Given the description of an element on the screen output the (x, y) to click on. 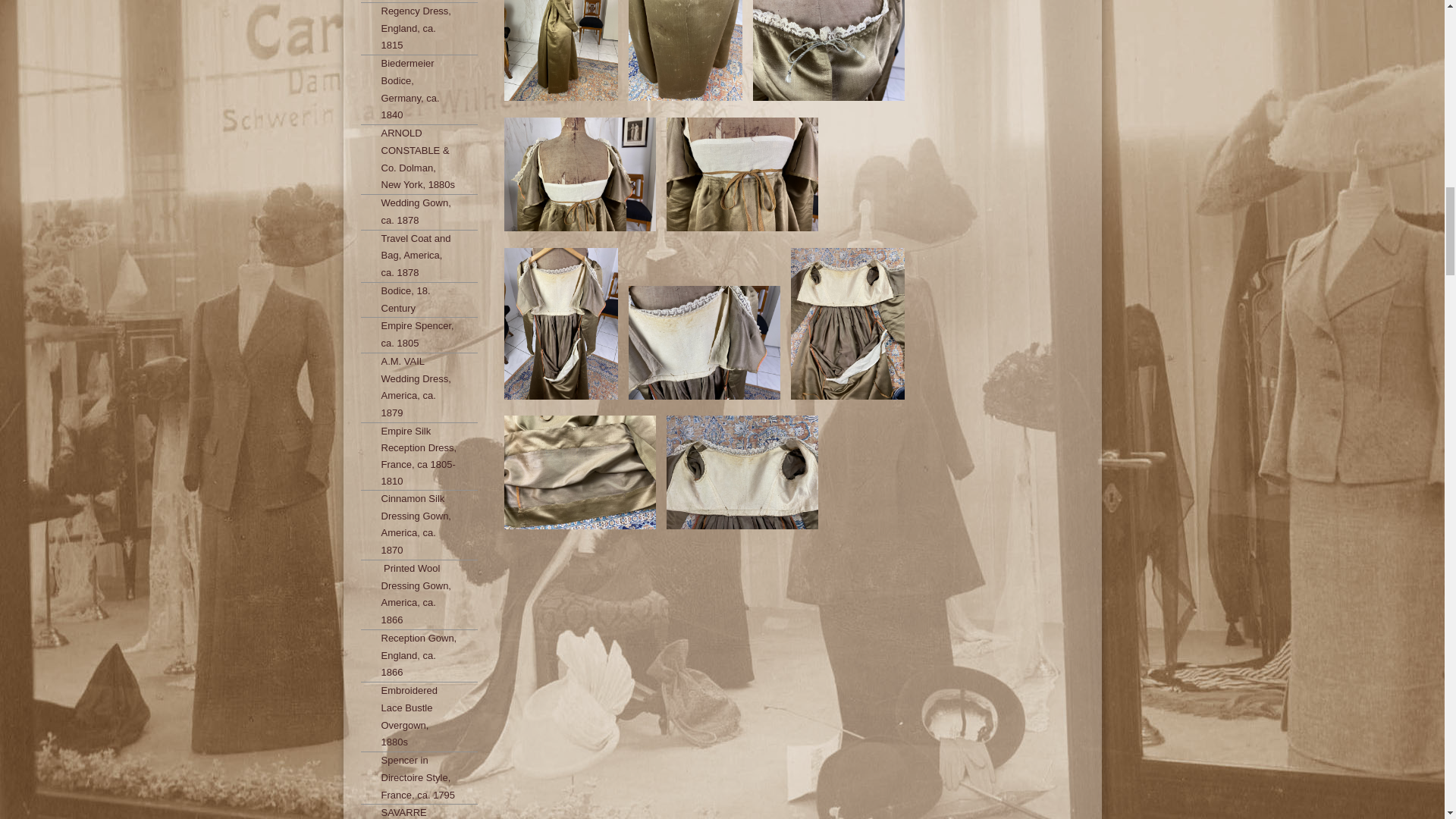
15 antique empire silk dress 1805 (561, 102)
Boudoir Gown, England, ca. 1870 (419, 0)
Regency Dress, England, ca. 1815 (419, 28)
